Given the description of an element on the screen output the (x, y) to click on. 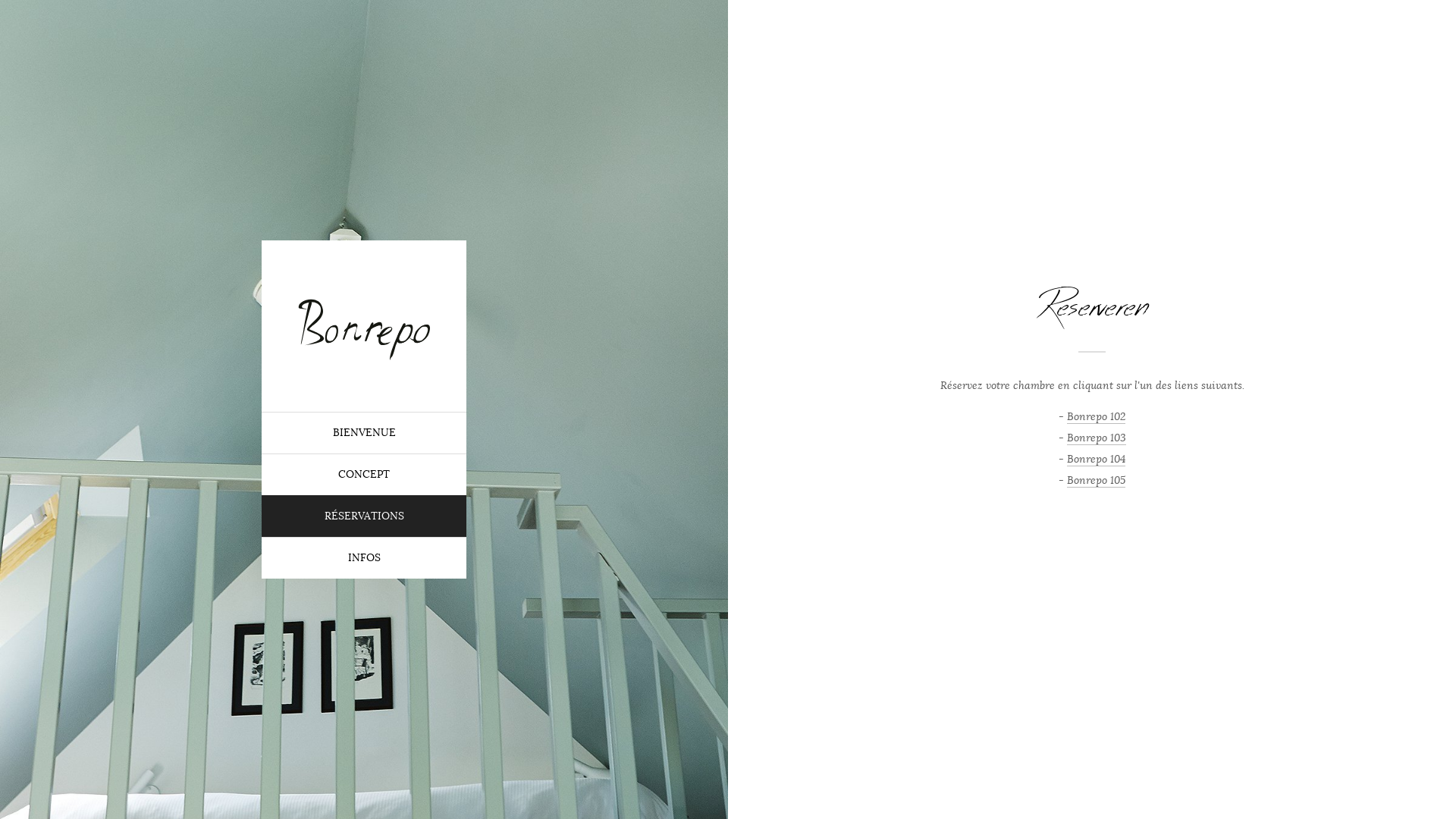
BIENVENUE Element type: text (363, 432)
INFOS Element type: text (363, 557)
Bonrepo 103 Element type: text (1095, 437)
Bonrepo 105 Element type: text (1095, 479)
Bonrepo 102 Element type: text (1095, 416)
Bonrepo 104 Element type: text (1095, 458)
CONCEPT Element type: text (363, 474)
